Given the description of an element on the screen output the (x, y) to click on. 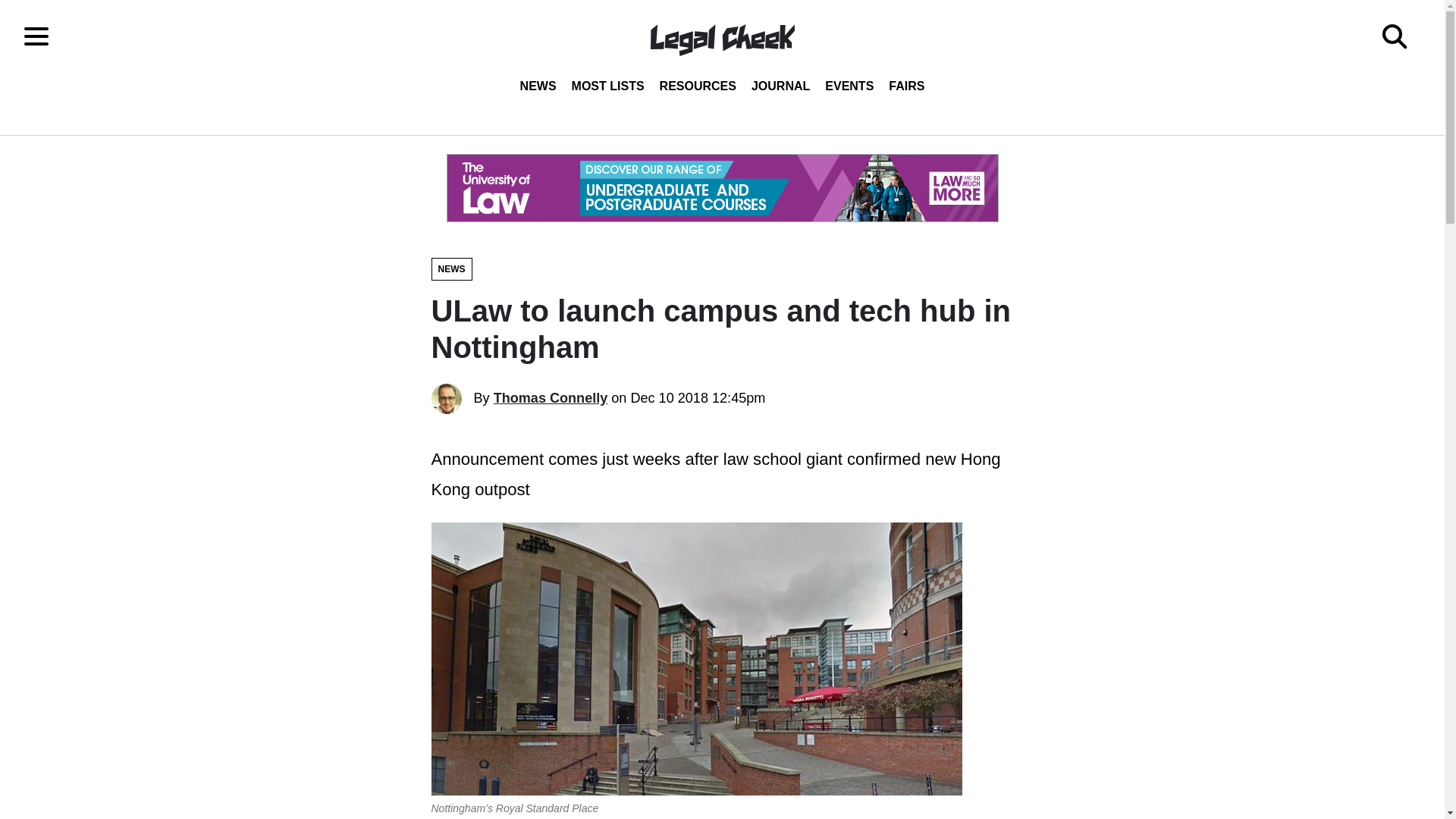
Thomas Connelly (550, 397)
advertisement (721, 187)
NEWS (538, 86)
EVENTS (848, 86)
MOST LISTS (608, 86)
NEWS (450, 268)
FAIRS (905, 86)
RESOURCES (698, 86)
JOURNAL (780, 86)
